Given the description of an element on the screen output the (x, y) to click on. 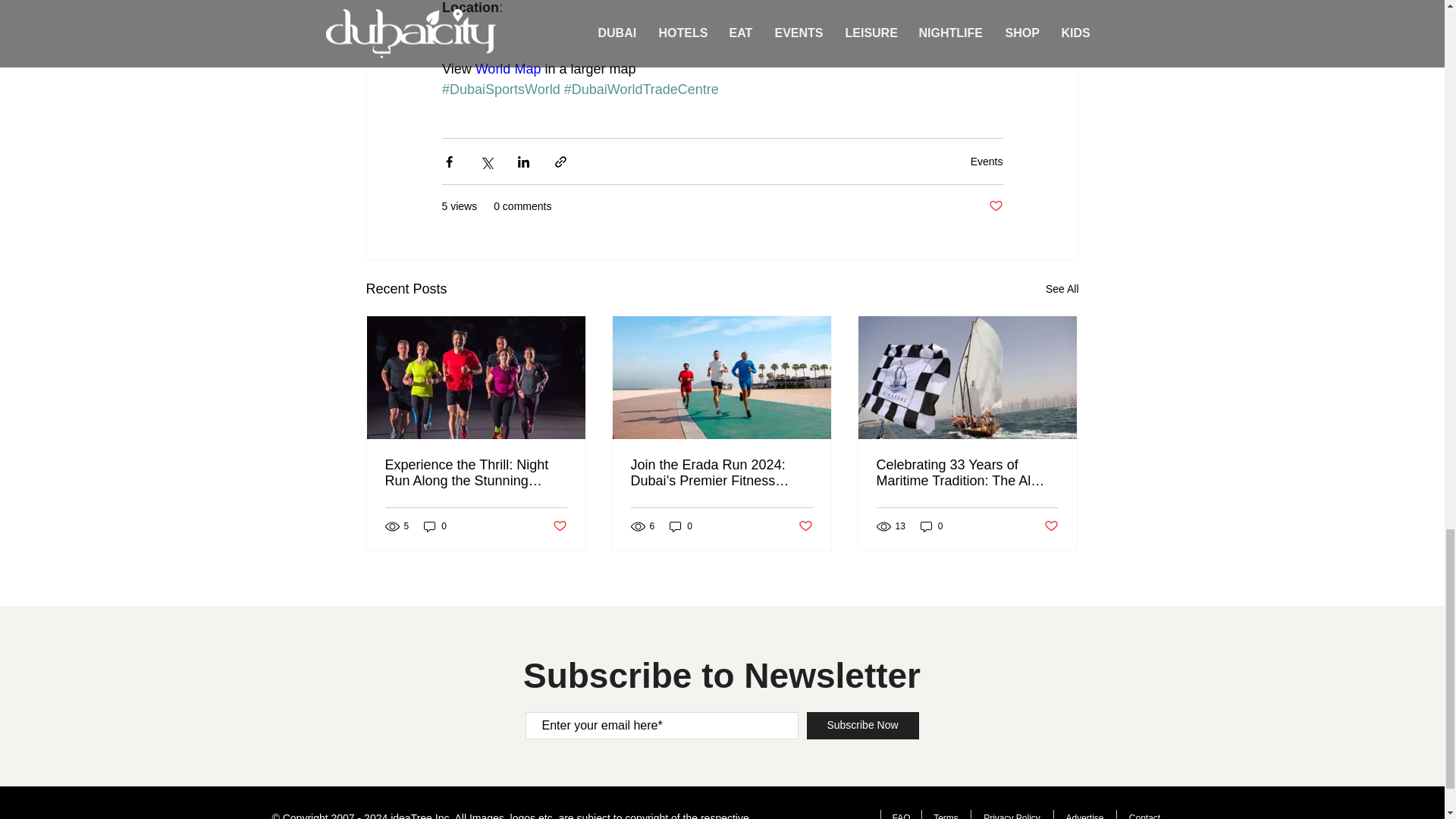
Events (987, 160)
Privacy Policy (1011, 814)
Post not marked as liked (804, 526)
0 (931, 525)
Subscribe Now (862, 725)
Post not marked as liked (558, 526)
Terms (944, 814)
FAQ (899, 814)
Post not marked as liked (1050, 526)
World Map (507, 68)
Advertise (1083, 814)
See All (1061, 289)
0 (681, 525)
